Given the description of an element on the screen output the (x, y) to click on. 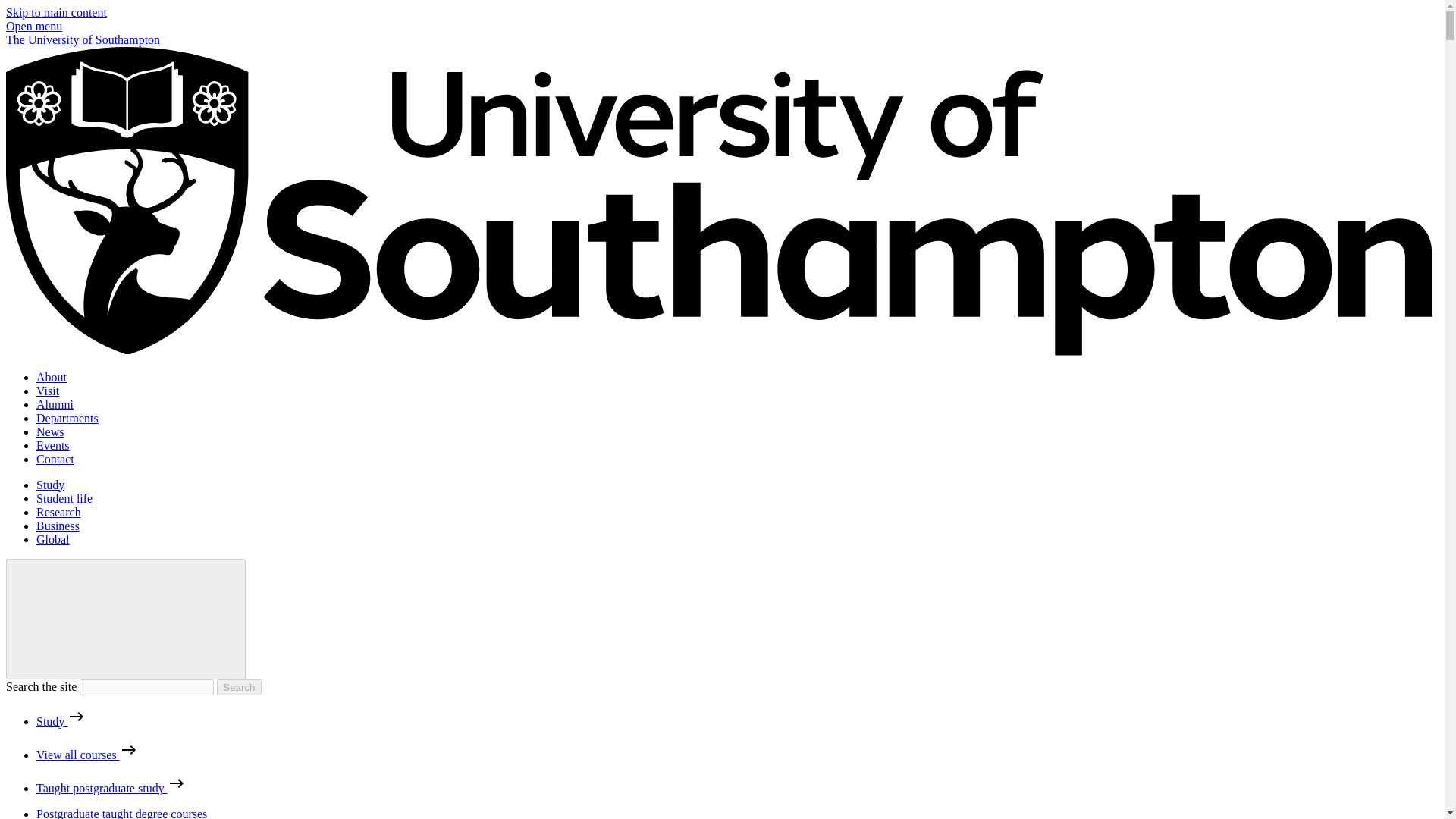
Contact (55, 459)
Postgraduate taught degree courses (121, 813)
Departments (67, 418)
Search (238, 687)
View all courses (87, 754)
Visit (47, 390)
Business (58, 525)
Study (50, 484)
Alumni (55, 404)
Research (58, 512)
